Given the description of an element on the screen output the (x, y) to click on. 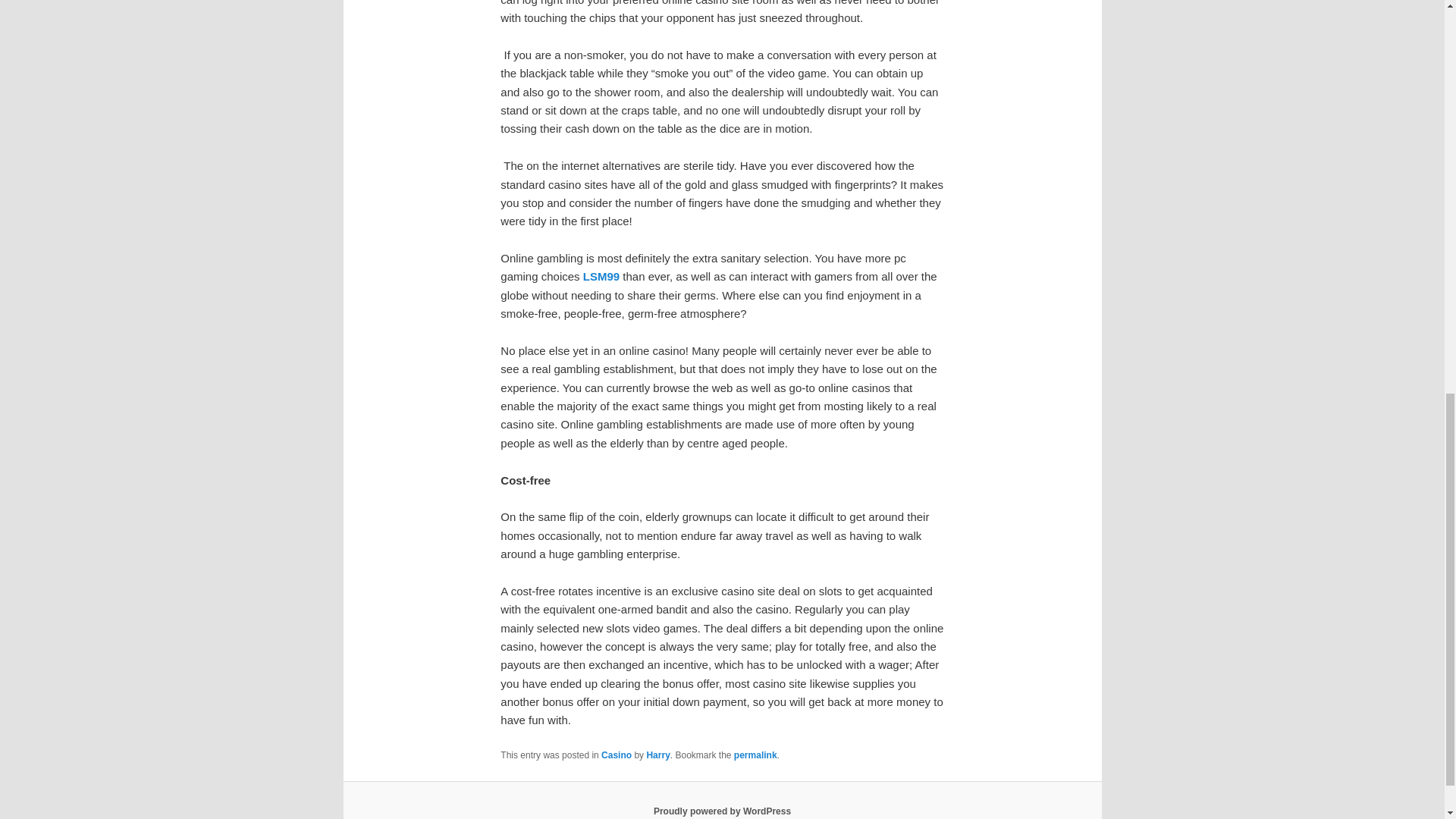
Semantic Personal Publishing Platform (721, 810)
Casino (616, 755)
Permalink to An overview of Online Gambling Establishments (755, 755)
Harry (657, 755)
permalink (755, 755)
Proudly powered by WordPress (721, 810)
LSM99 (601, 276)
